Given the description of an element on the screen output the (x, y) to click on. 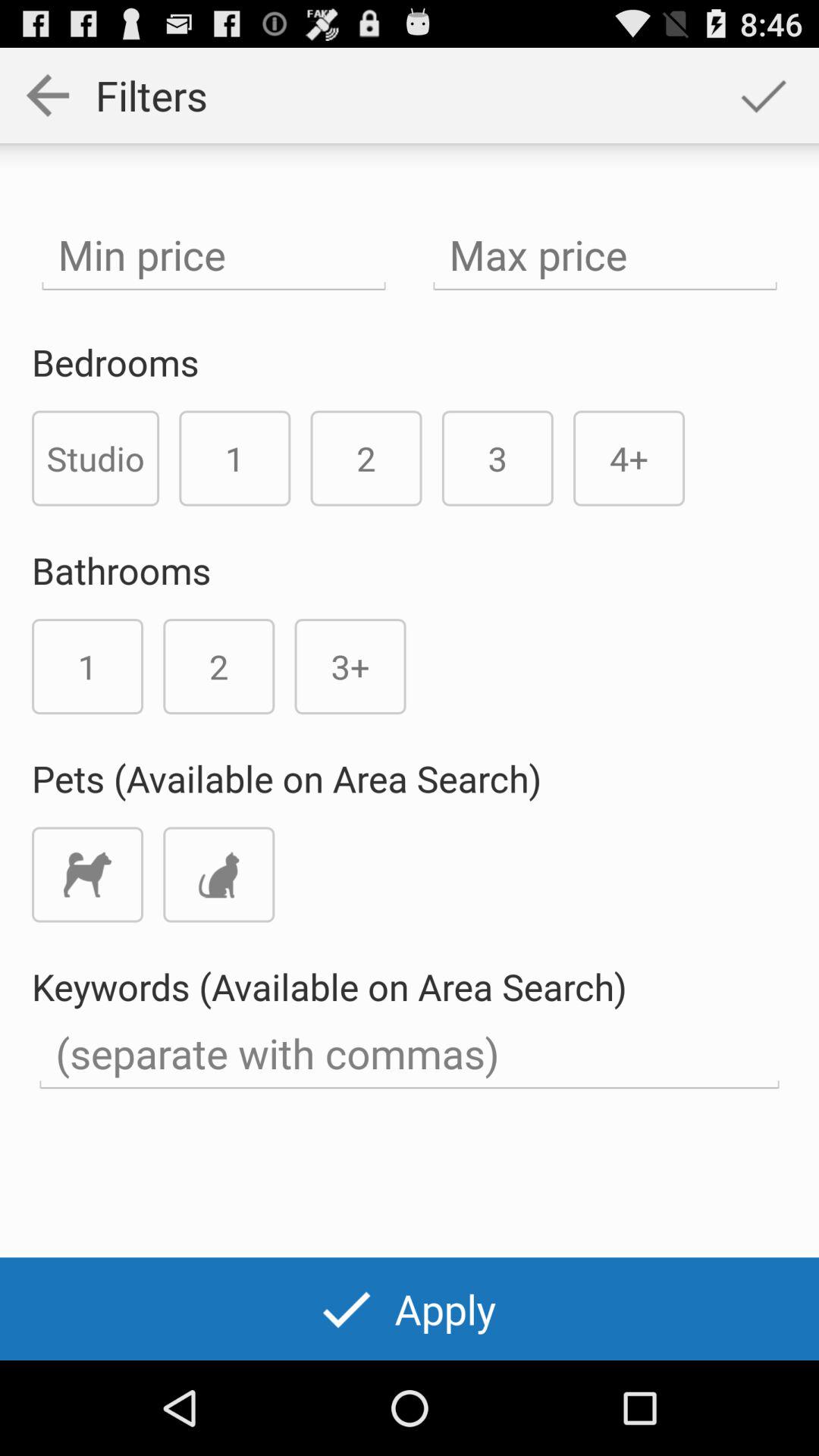
click the icon below bedrooms icon (95, 458)
